Given the description of an element on the screen output the (x, y) to click on. 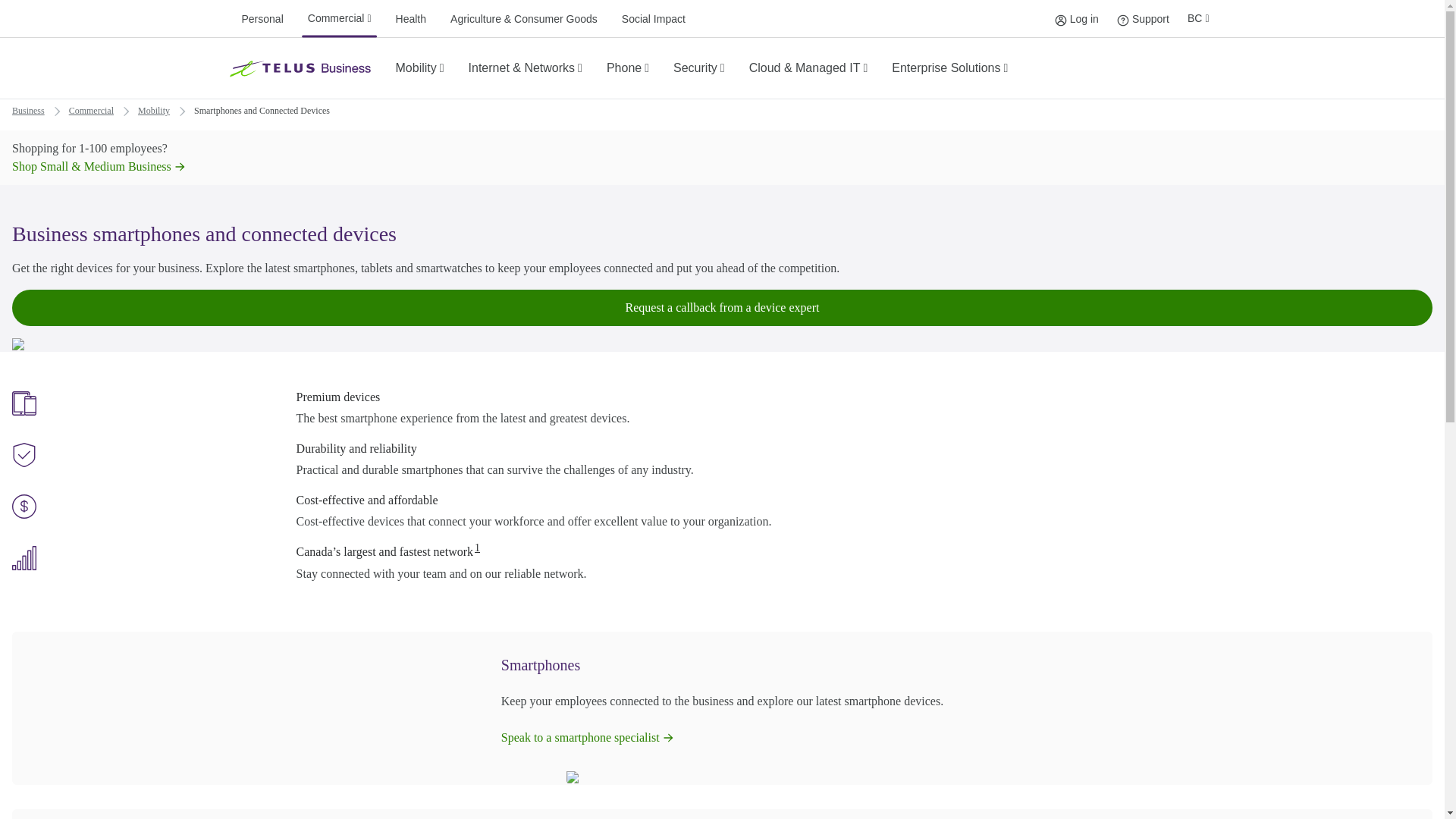
Log in (1060, 20)
Personal (1142, 18)
Mobility (261, 18)
Business (154, 109)
Enterprise Solutions (28, 109)
Social Impact (949, 67)
Mobility (653, 18)
Commercial (420, 67)
Health (339, 18)
Request a callback from a device expert (411, 18)
Support (721, 307)
Phone (1122, 20)
Security (628, 67)
